Given the description of an element on the screen output the (x, y) to click on. 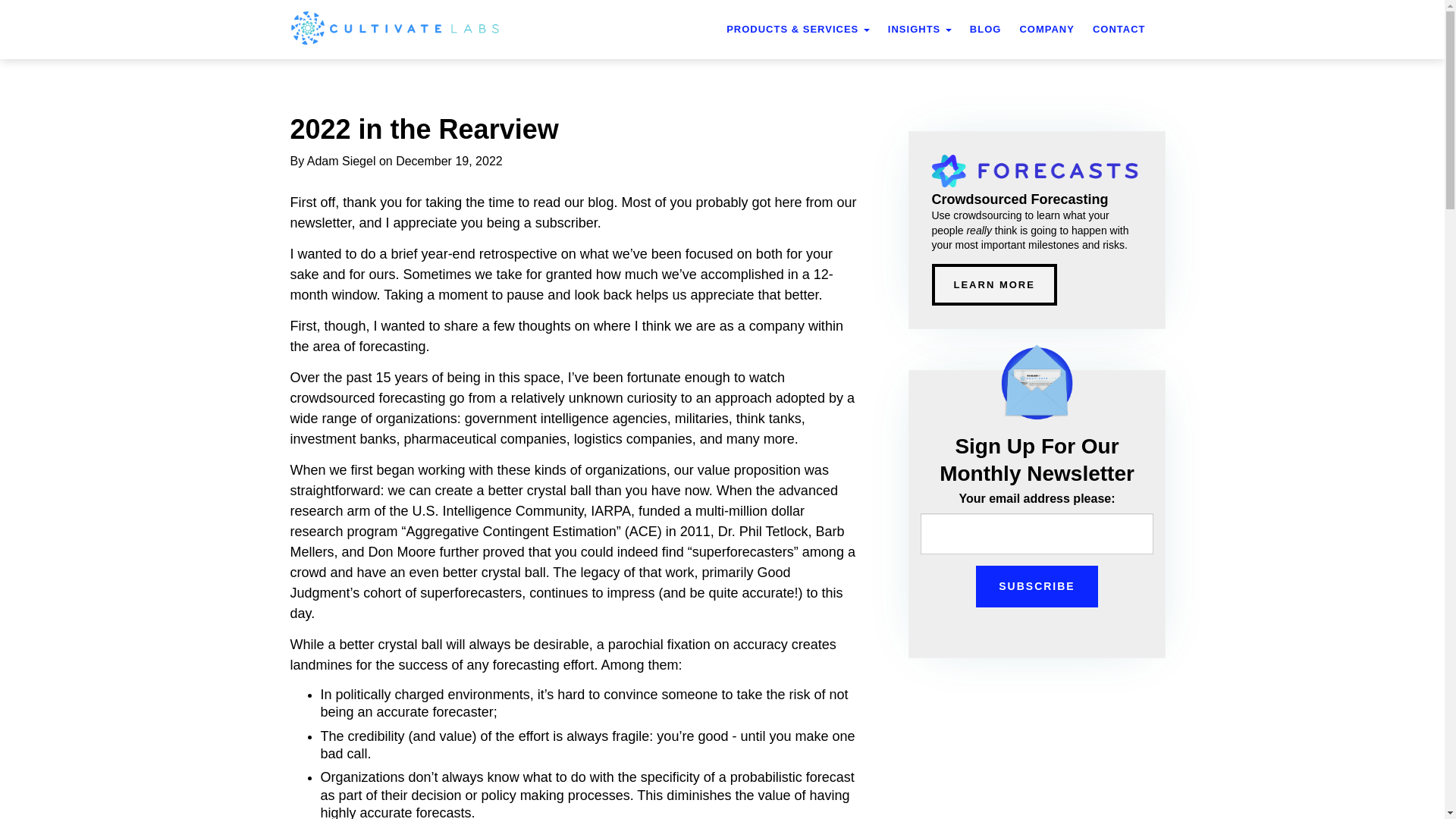
translation missing: en.company (1046, 29)
INSIGHTS (919, 29)
Subscribe (1036, 586)
CONTACT (1118, 29)
COMPANY (1046, 29)
translation missing: en.contact (1119, 29)
Subscribe (1036, 586)
LEARN MORE (994, 284)
